Given the description of an element on the screen output the (x, y) to click on. 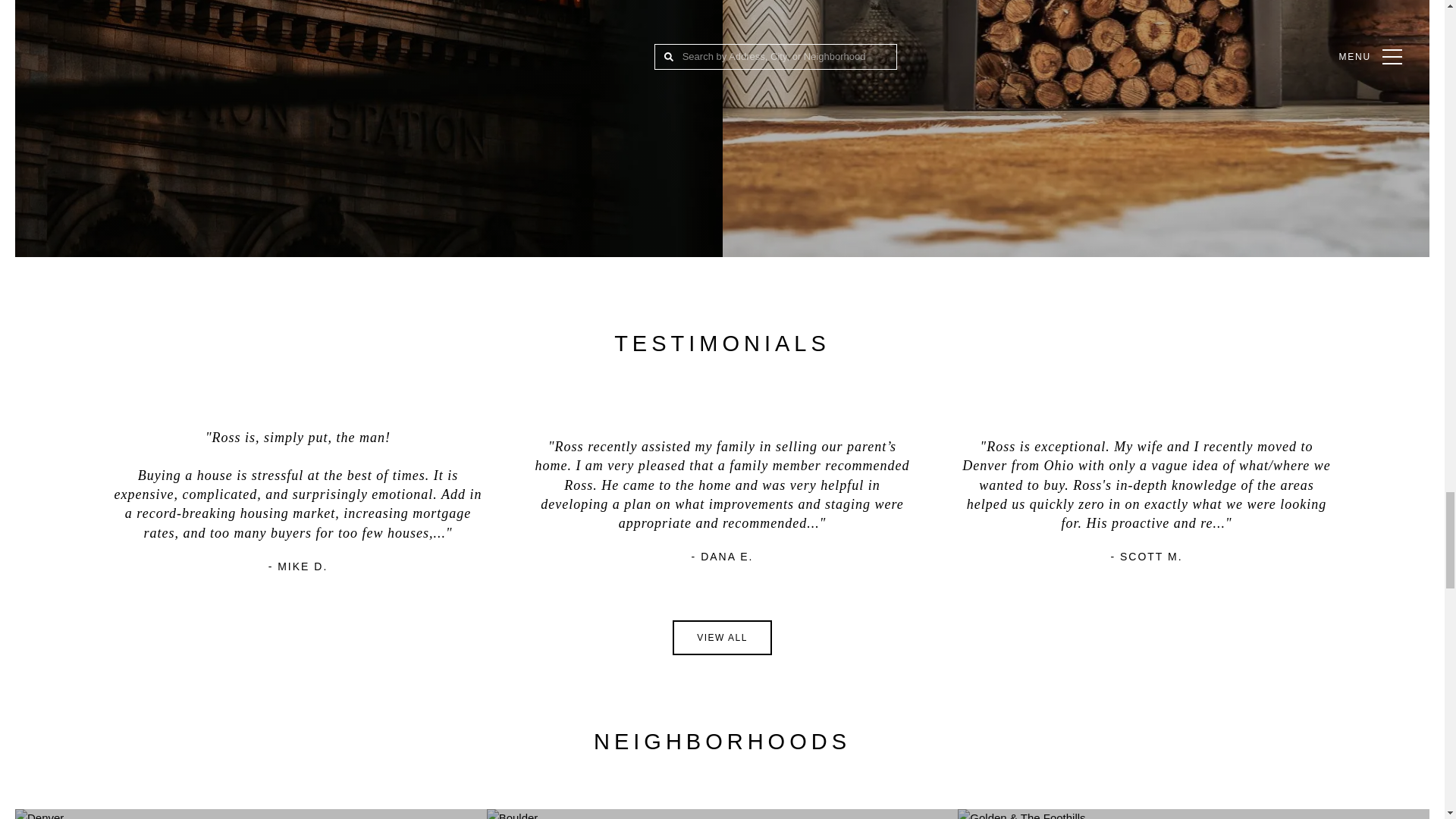
DENVER (250, 814)
BOULDER (722, 814)
VIEW ALL (721, 637)
